Given the description of an element on the screen output the (x, y) to click on. 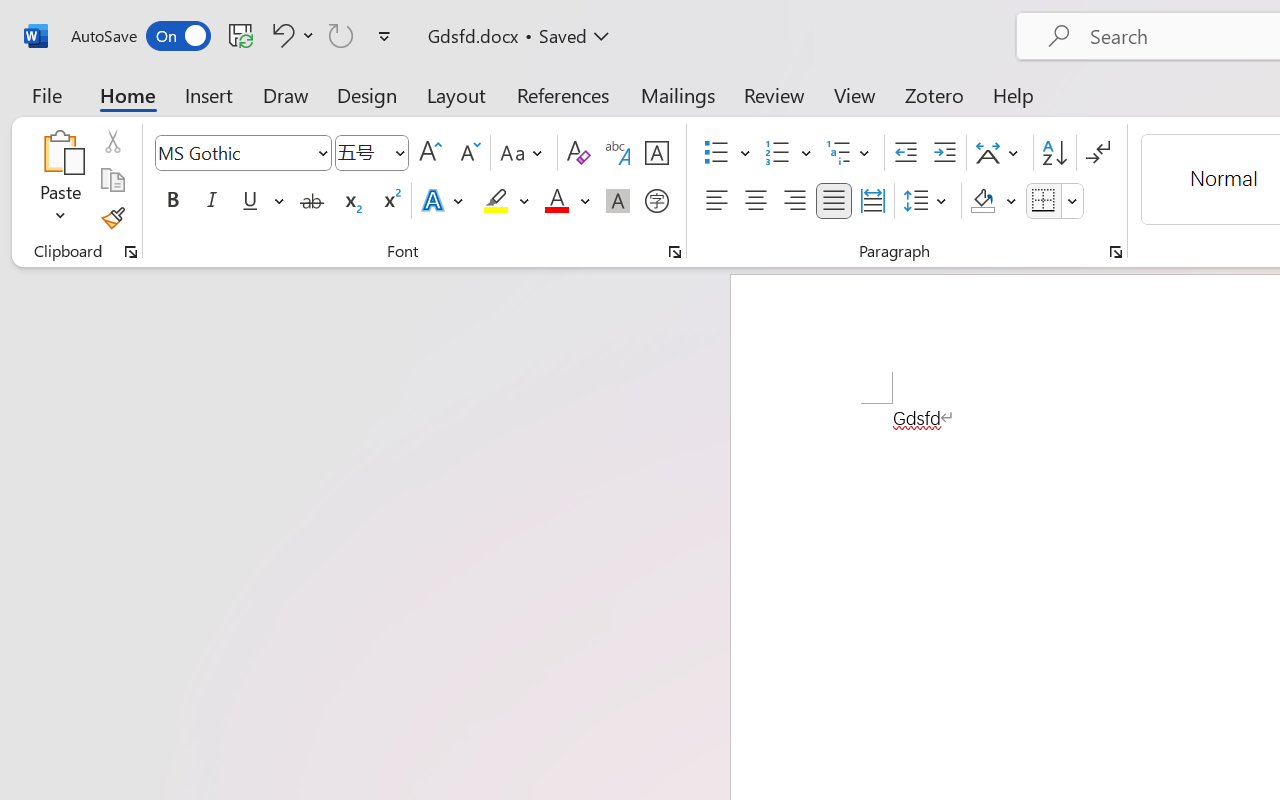
Distributed (872, 201)
Shading (993, 201)
